Given the description of an element on the screen output the (x, y) to click on. 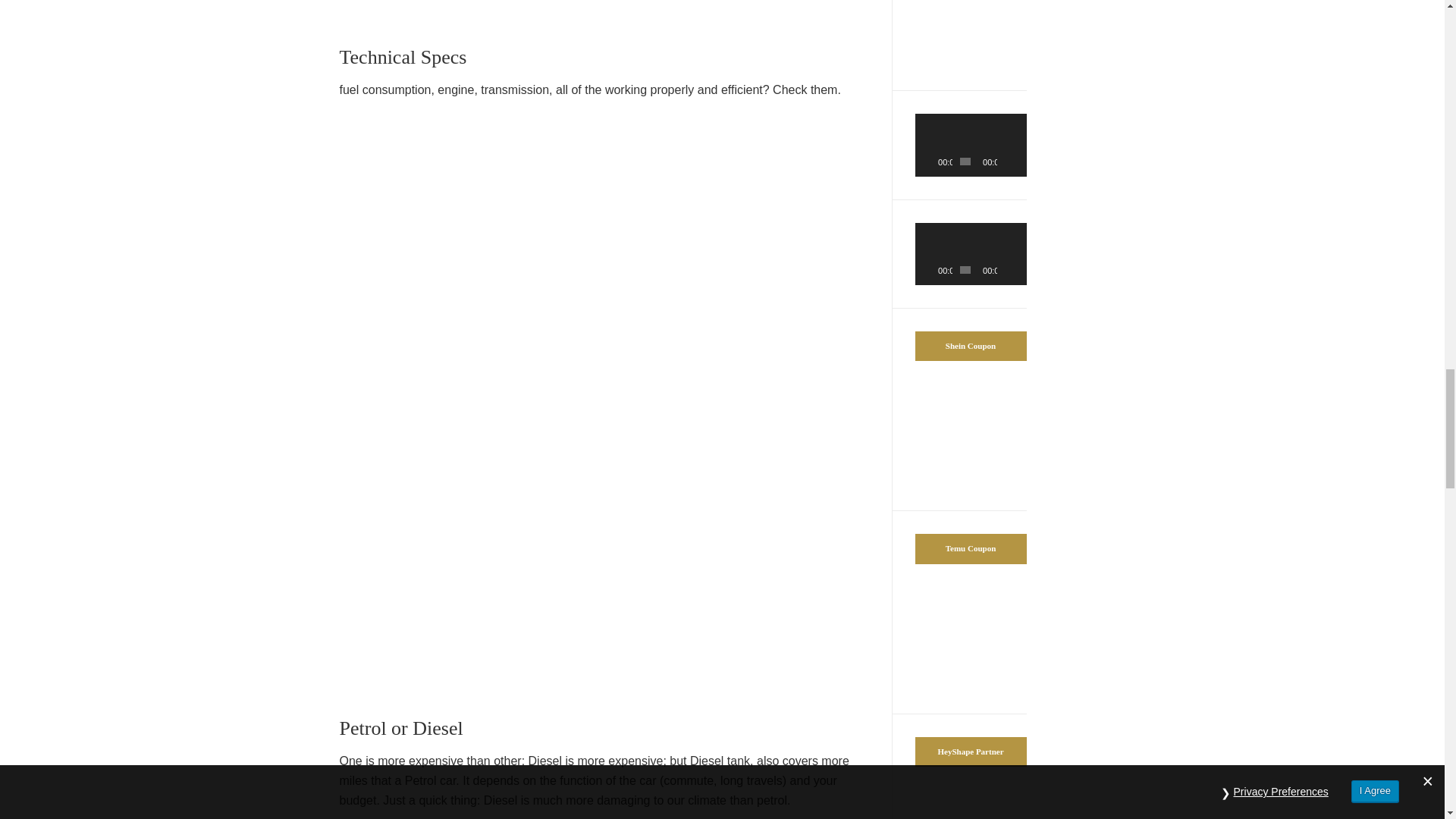
Mute (1008, 269)
Play (934, 269)
Play (934, 160)
Fullscreen (1019, 160)
Fullscreen (1019, 269)
Mute (1008, 160)
